Given the description of an element on the screen output the (x, y) to click on. 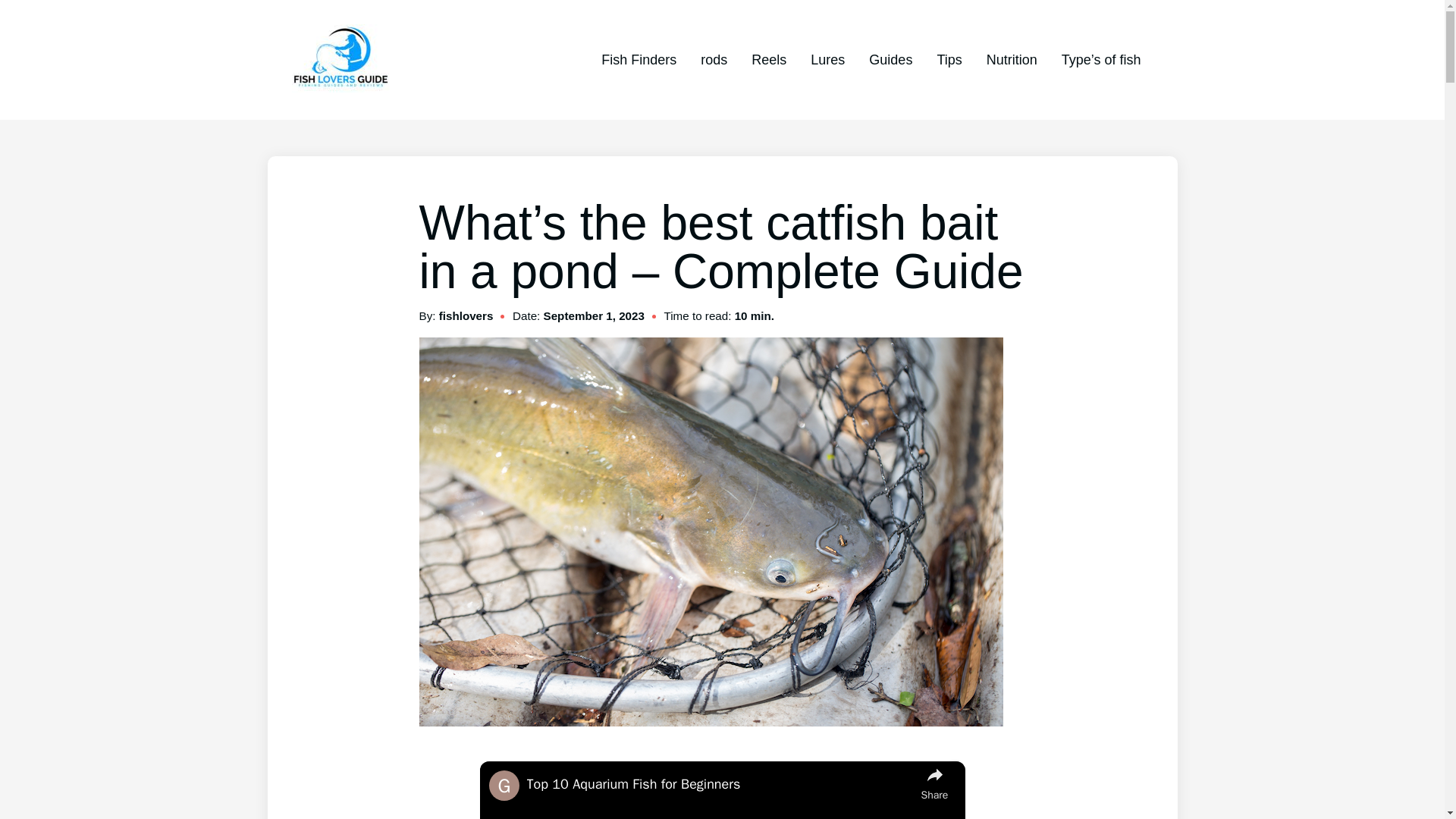
Fish Finders (639, 58)
Top 10 Aquarium Fish for Beginners (718, 783)
Tips (948, 58)
Nutrition (1011, 58)
Guides (890, 58)
Lures (827, 58)
rods (713, 58)
Reels (768, 58)
